Given the description of an element on the screen output the (x, y) to click on. 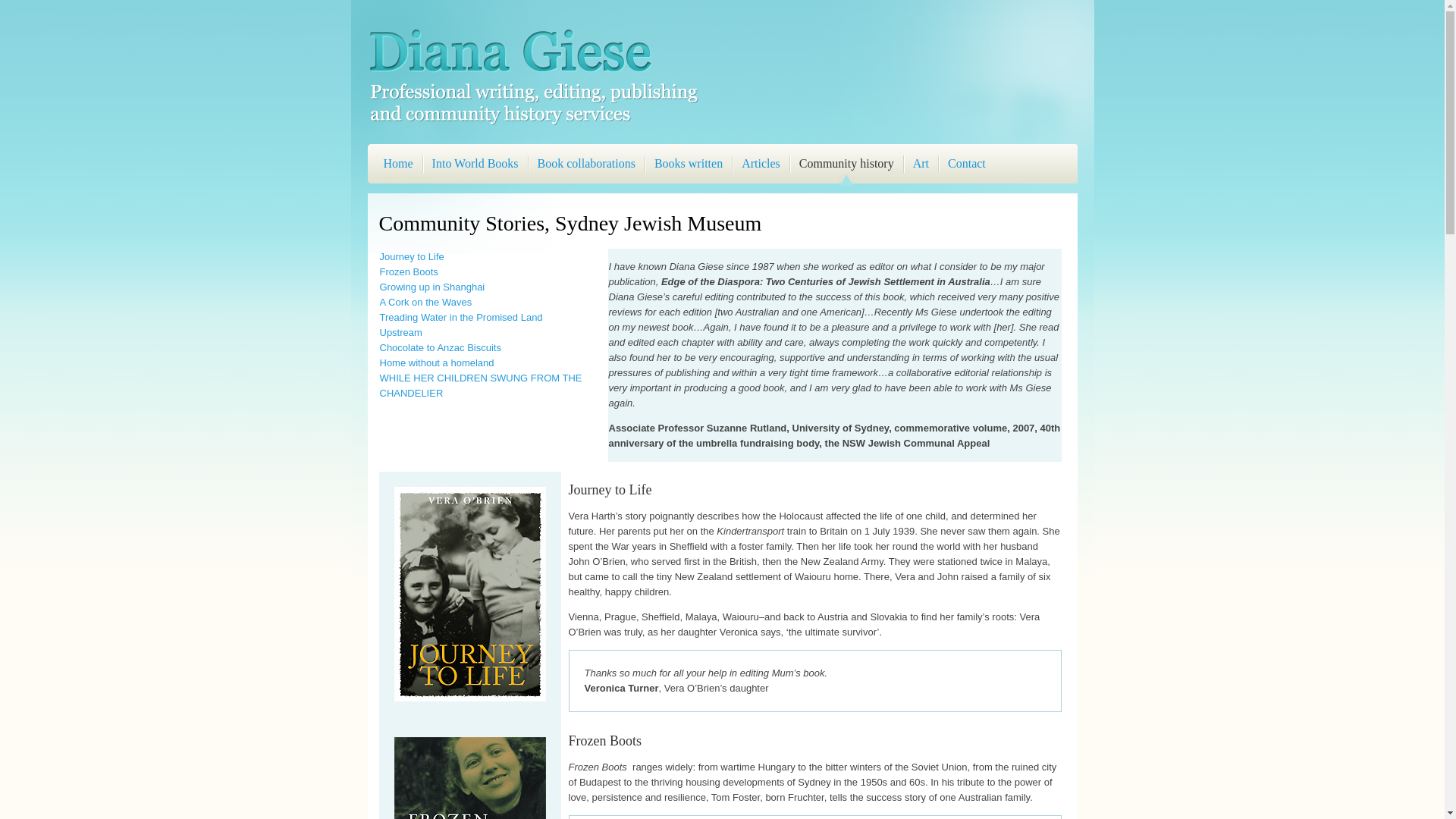
Articles Element type: text (760, 166)
WHILE HER CHILDREN SWUNG FROM THE CHANDELIER Element type: text (480, 384)
Journey to Life Element type: text (411, 255)
Growing up in Shanghai Element type: text (431, 285)
Chocolate to Anzac Biscuits Element type: text (439, 346)
Art Element type: text (920, 166)
Journey to Life Element type: hover (470, 593)
Treading Water in the Promised Land Element type: text (460, 316)
Into World Books Element type: text (475, 166)
Contact Element type: text (966, 166)
Home without a homeland Element type: text (436, 361)
Home Element type: text (398, 166)
return home Element type: hover (532, 123)
Frozen Boots Element type: text (408, 270)
Upstream Element type: text (400, 331)
A Cork on the Waves Element type: text (425, 301)
